Given the description of an element on the screen output the (x, y) to click on. 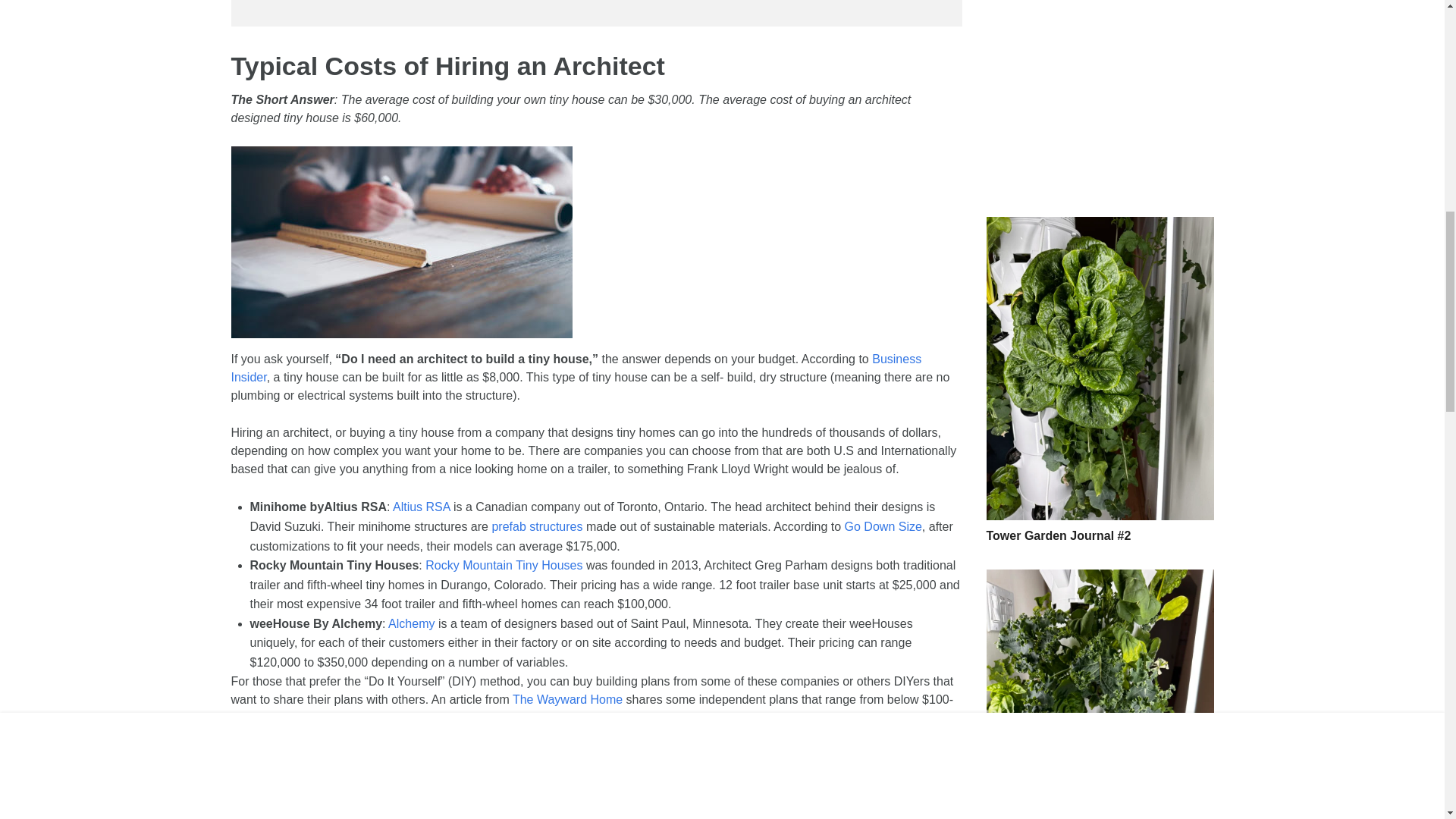
prefab structures (537, 526)
Advertisement (1098, 96)
Business Insider (575, 368)
Alchemy (410, 623)
Go Down Size (882, 526)
Rocky Mountain Tiny Houses (503, 564)
Altius RSA (421, 506)
